Given the description of an element on the screen output the (x, y) to click on. 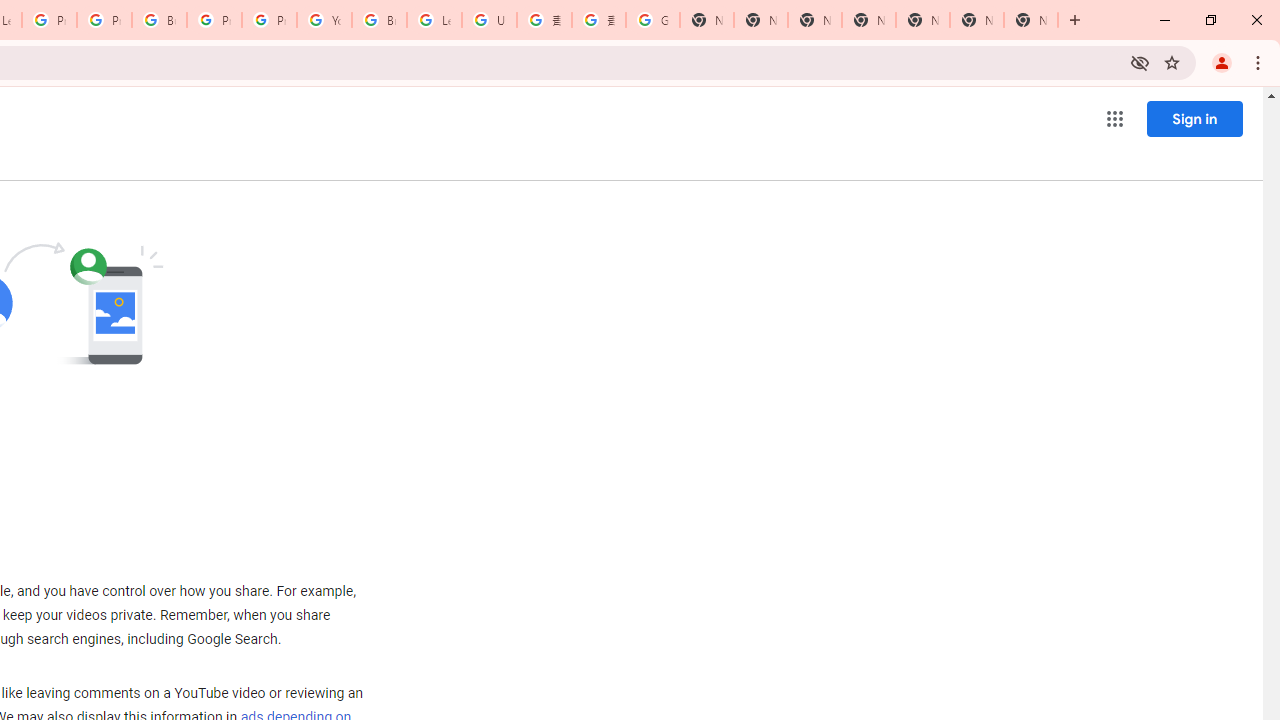
YouTube (324, 20)
Google Images (652, 20)
Third-party cookies blocked (1139, 62)
New Tab (1030, 20)
New Tab (868, 20)
Browse Chrome as a guest - Computer - Google Chrome Help (379, 20)
